Given the description of an element on the screen output the (x, y) to click on. 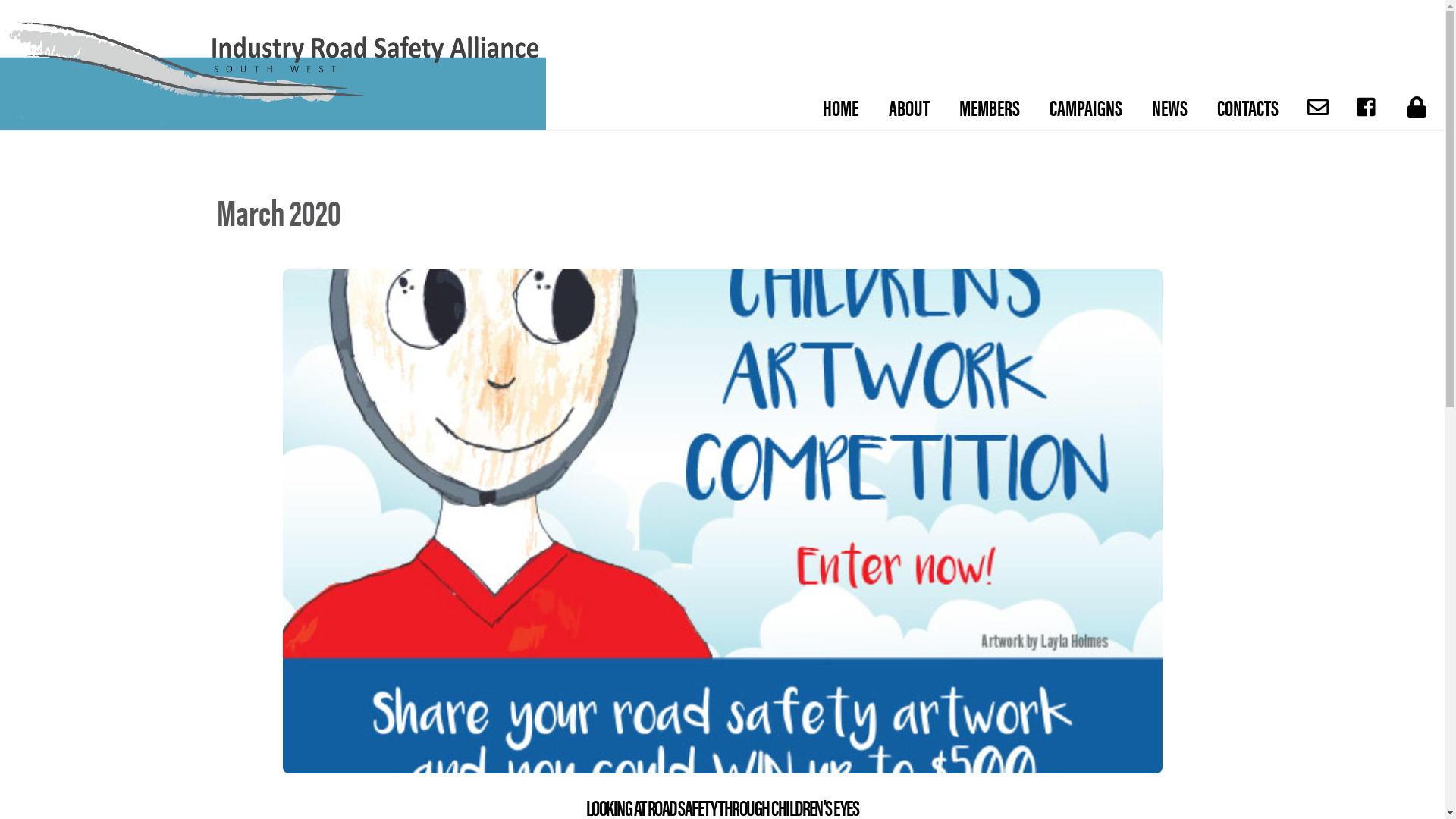
Industry Road Safety Alliance Element type: hover (273, 122)
ABOUT Element type: text (908, 106)
IRSA HEADER Element type: hover (273, 74)
2020 Childrens Artwork Comp Entry feature image Element type: hover (721, 521)
HOME Element type: text (840, 106)
CAMPAIGNS Element type: text (1085, 106)
NEWS Element type: text (1170, 106)
MEMBERS Element type: text (988, 106)
CONTACTS Element type: text (1248, 106)
